Given the description of an element on the screen output the (x, y) to click on. 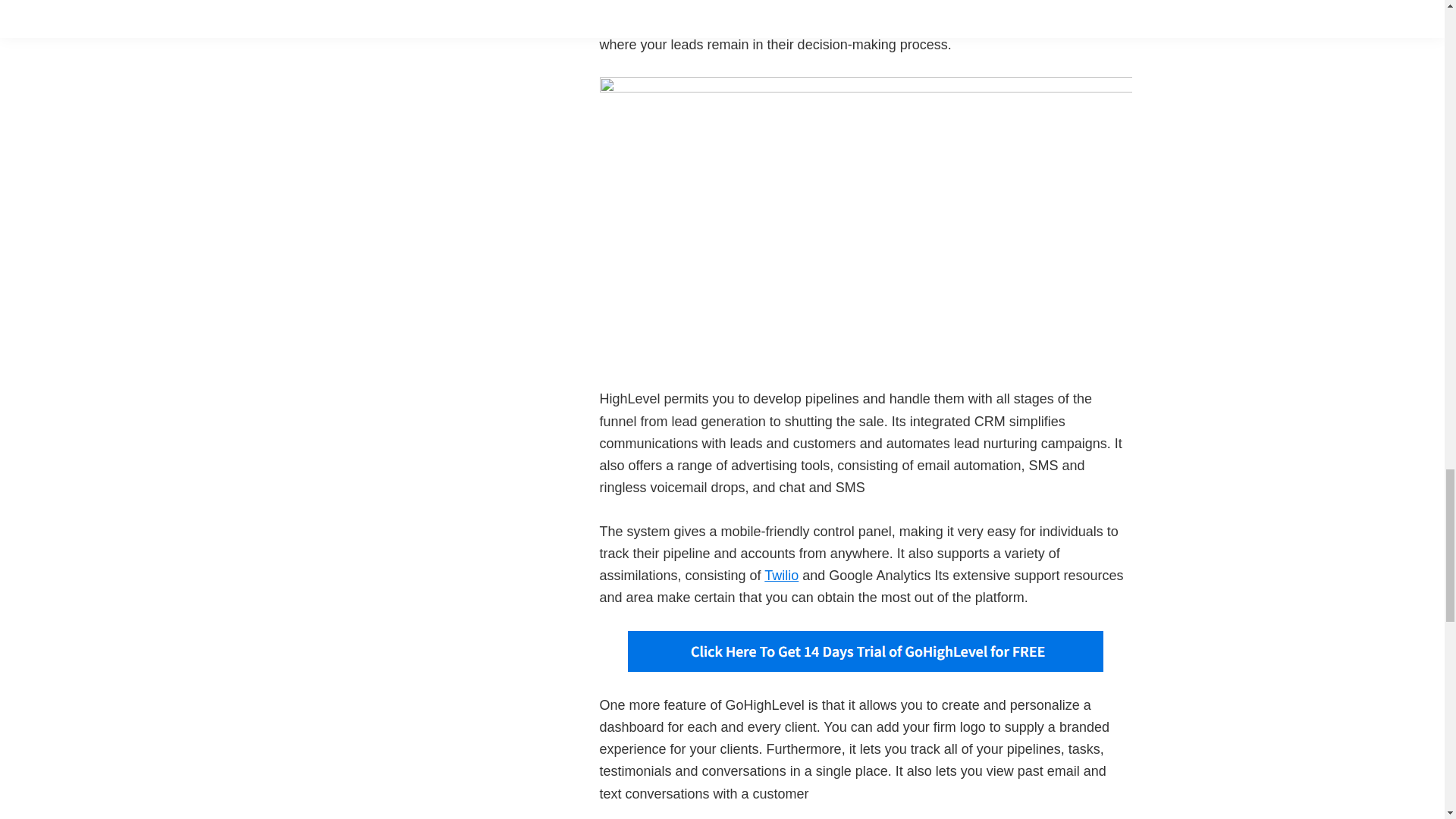
Twilio (780, 575)
